Given the description of an element on the screen output the (x, y) to click on. 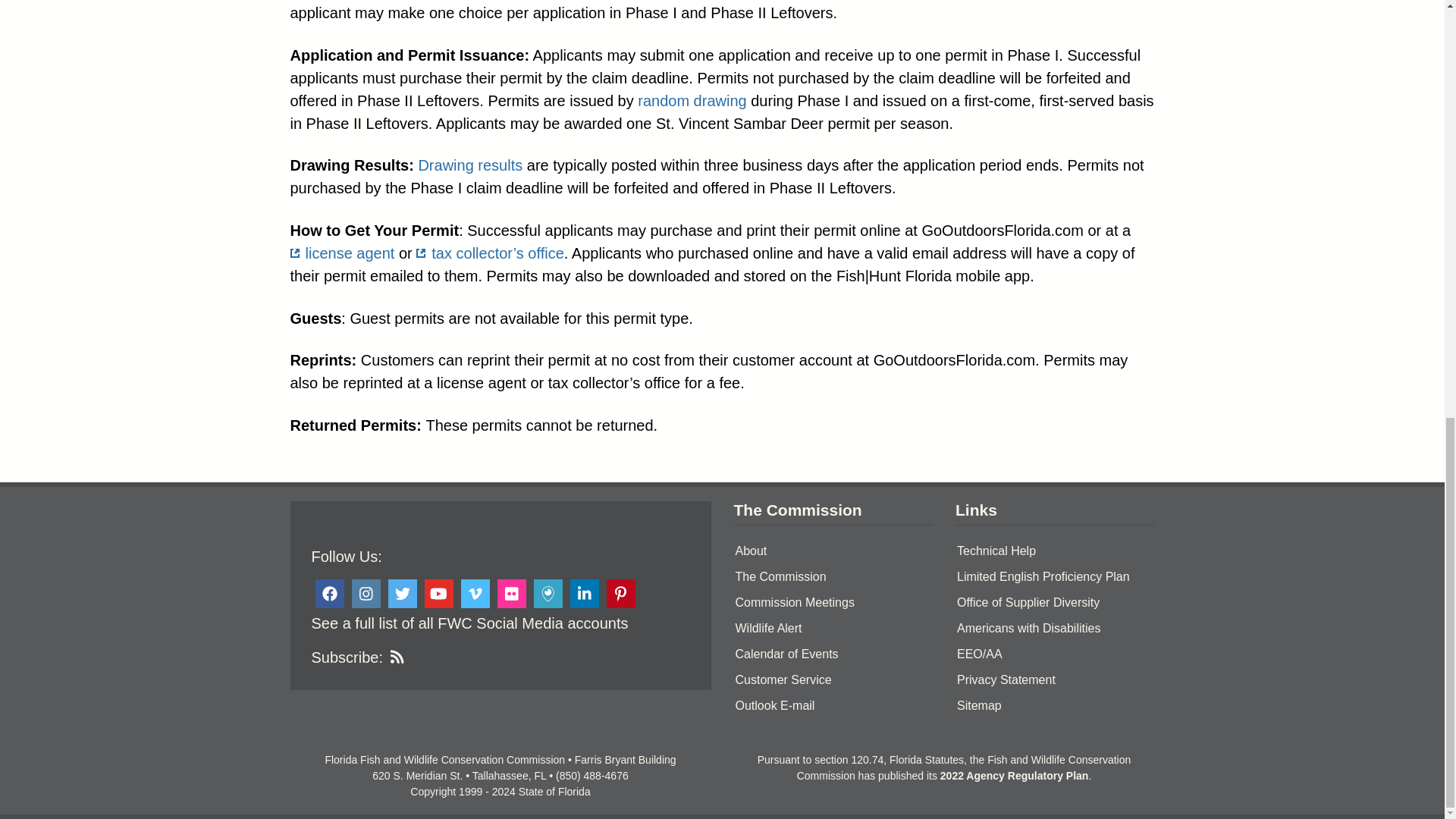
Drawing Results (691, 100)
Drawing Results (469, 165)
2022 Regulatory Plan (1014, 775)
